Given the description of an element on the screen output the (x, y) to click on. 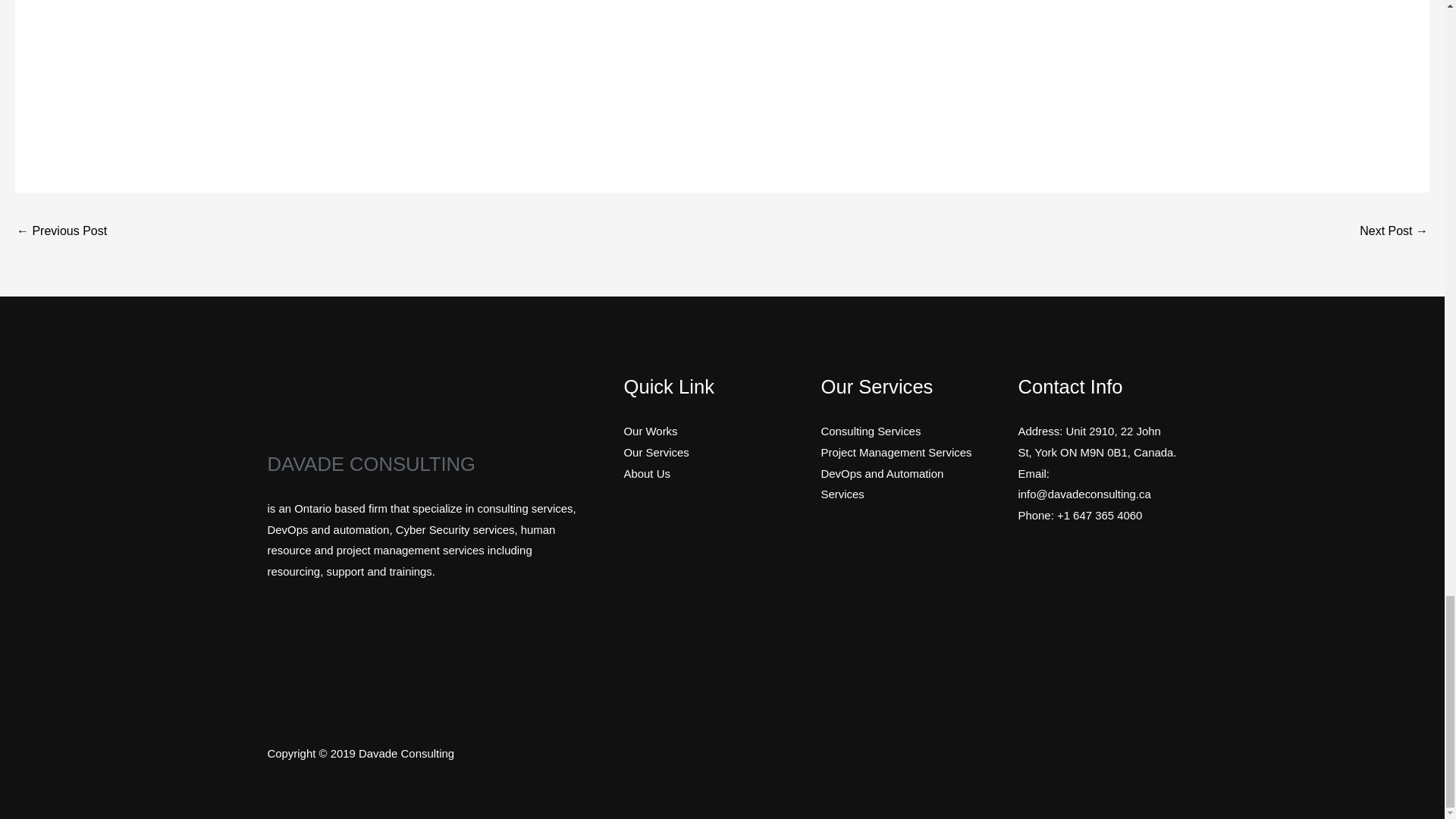
Find your perfect match on our age gap dating site (1393, 232)
Consulting Services (870, 431)
Our Services (655, 451)
About Us (646, 472)
Our Works (650, 431)
DevOps and Automation Services (882, 483)
Project Management Services (896, 451)
